Given the description of an element on the screen output the (x, y) to click on. 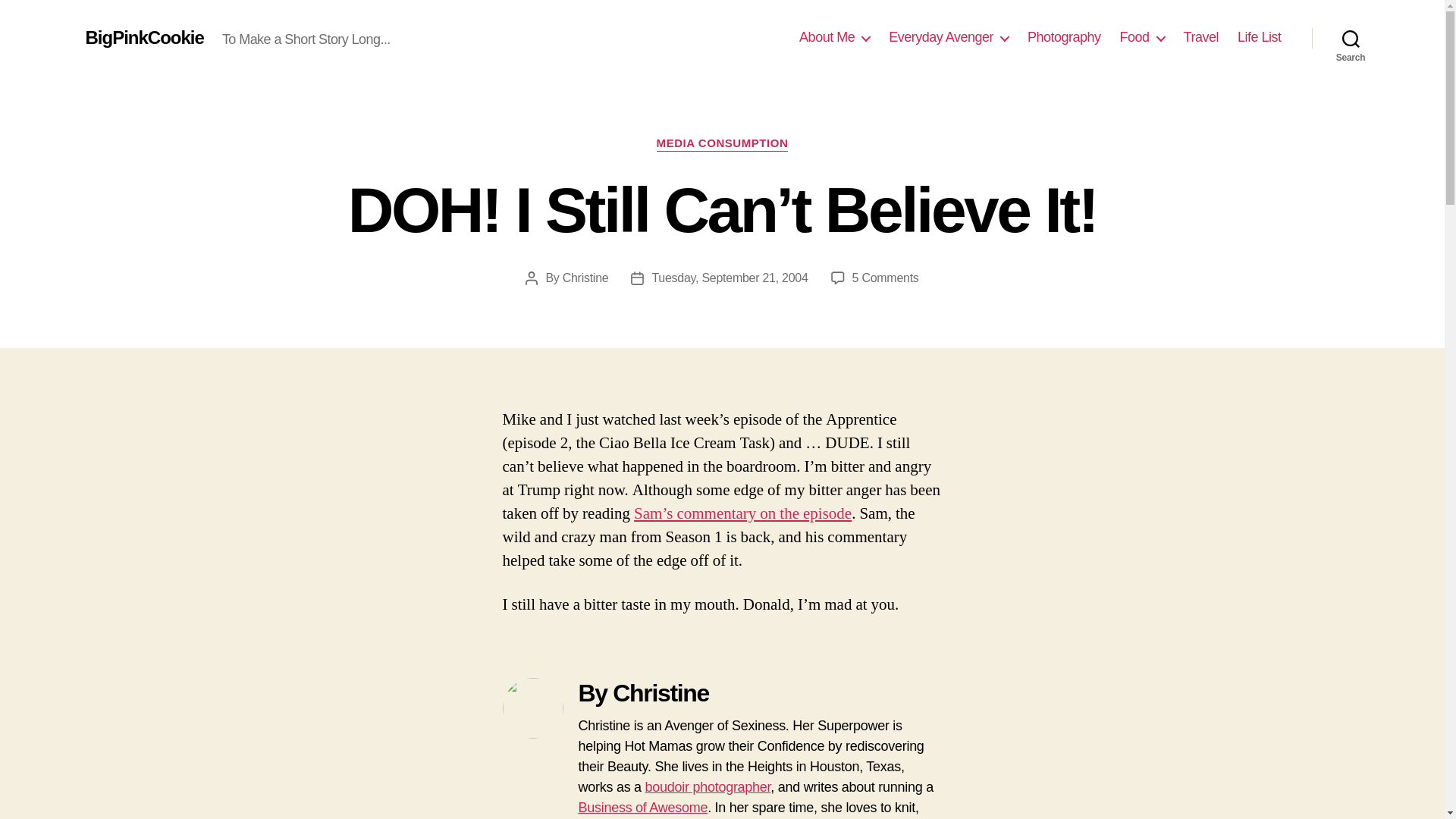
Search (1350, 37)
Photography (1063, 37)
About Me (834, 37)
MEDIA CONSUMPTION (722, 143)
Travel (1200, 37)
Food (1141, 37)
Christine (585, 277)
BigPinkCookie (143, 37)
Everyday Avenger (948, 37)
Tuesday, September 21, 2004 (729, 277)
